Given the description of an element on the screen output the (x, y) to click on. 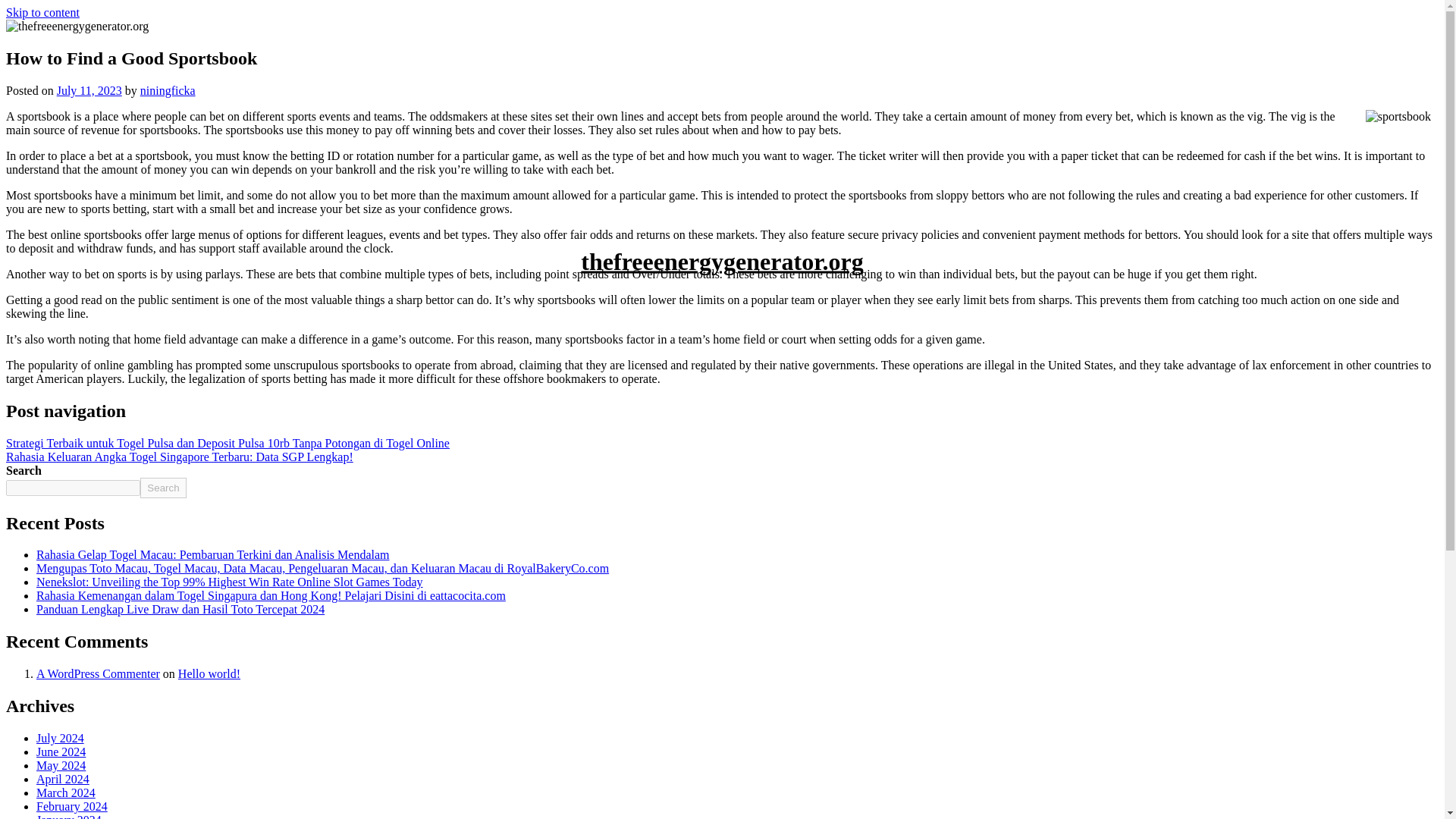
January 2024 (68, 816)
niningficka (167, 90)
A WordPress Commenter (98, 673)
July 2024 (60, 738)
Panduan Lengkap Live Draw dan Hasil Toto Tercepat 2024 (180, 608)
February 2024 (71, 806)
July 11, 2023 (89, 90)
April 2024 (62, 779)
June 2024 (60, 751)
May 2024 (60, 765)
Skip to content (42, 11)
Search (162, 487)
